Given the description of an element on the screen output the (x, y) to click on. 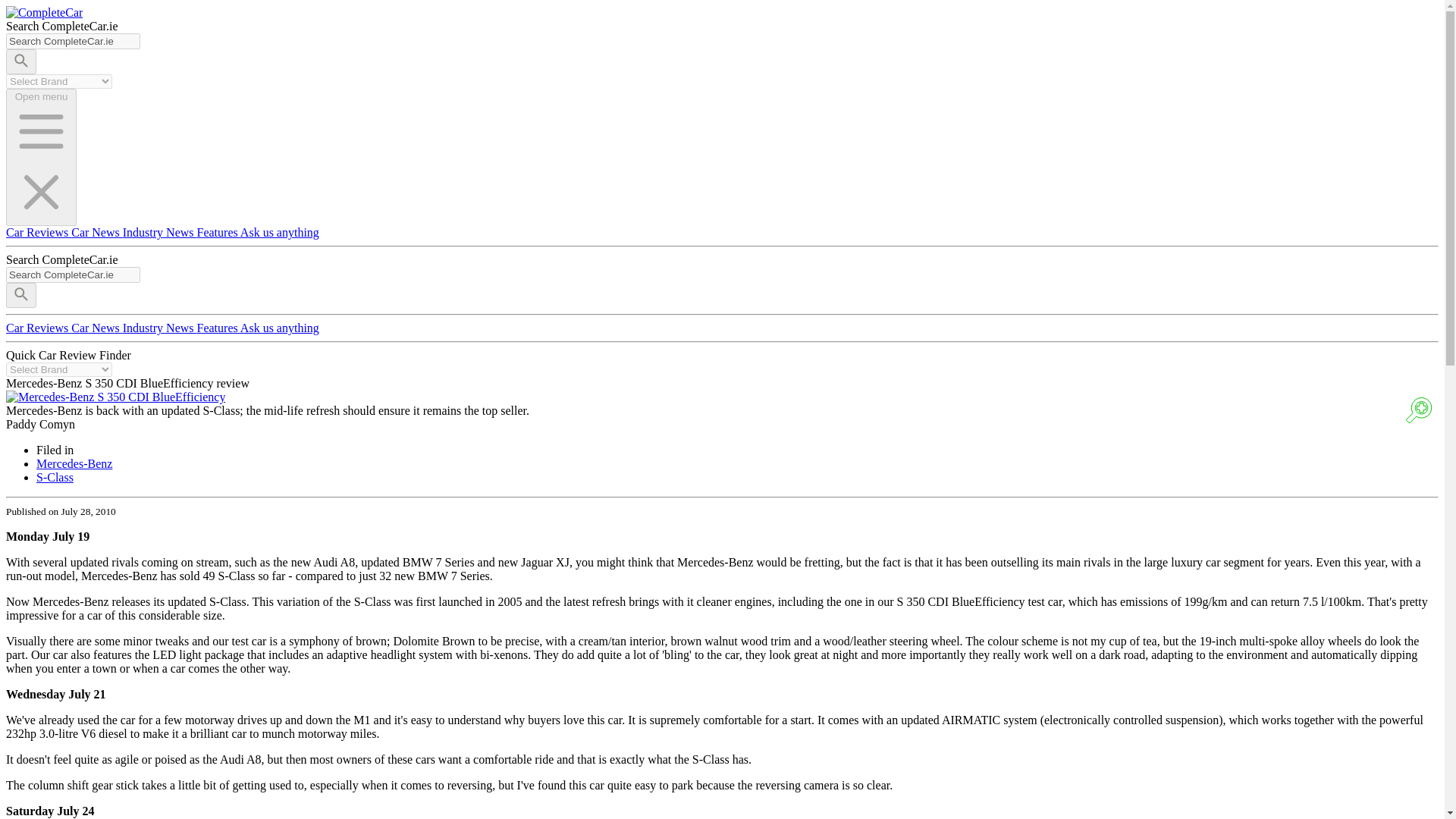
Features (218, 232)
Search CompleteCar.ie (72, 274)
Ask us anything (279, 327)
Ask us anything (279, 232)
Car News (96, 327)
Search CompleteCar.ie (72, 41)
Mercedes-Benz S 350 CDI BlueEfficiency (115, 397)
Search CompleteCar.ie (72, 274)
Car News (96, 232)
Car Reviews (38, 327)
Industry News (159, 232)
Industry News (159, 327)
Features (218, 327)
Mercedes-Benz (74, 463)
Search CompleteCar.ie (72, 41)
